Given the description of an element on the screen output the (x, y) to click on. 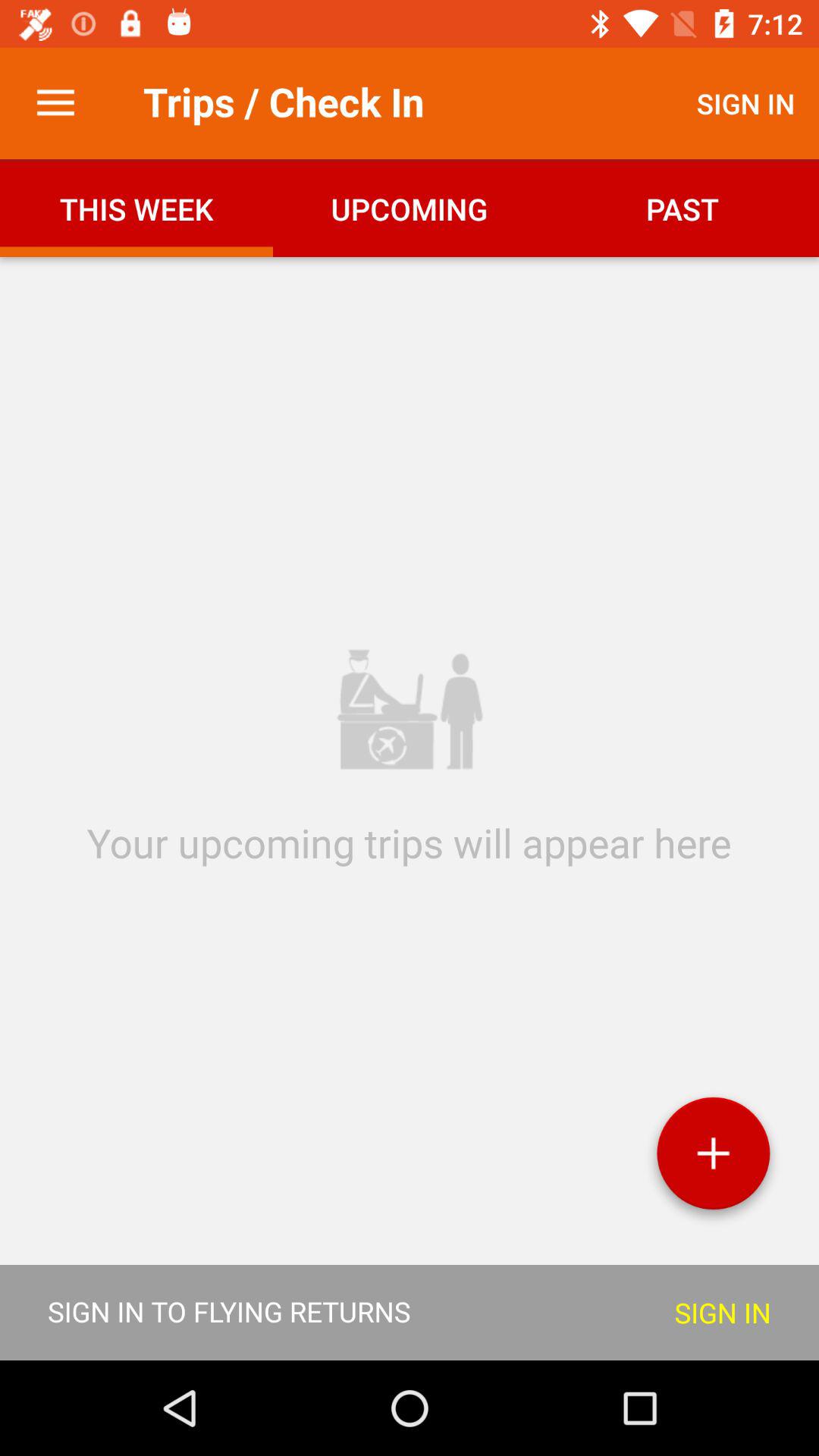
press the icon to the left of trips / check in icon (55, 103)
